Given the description of an element on the screen output the (x, y) to click on. 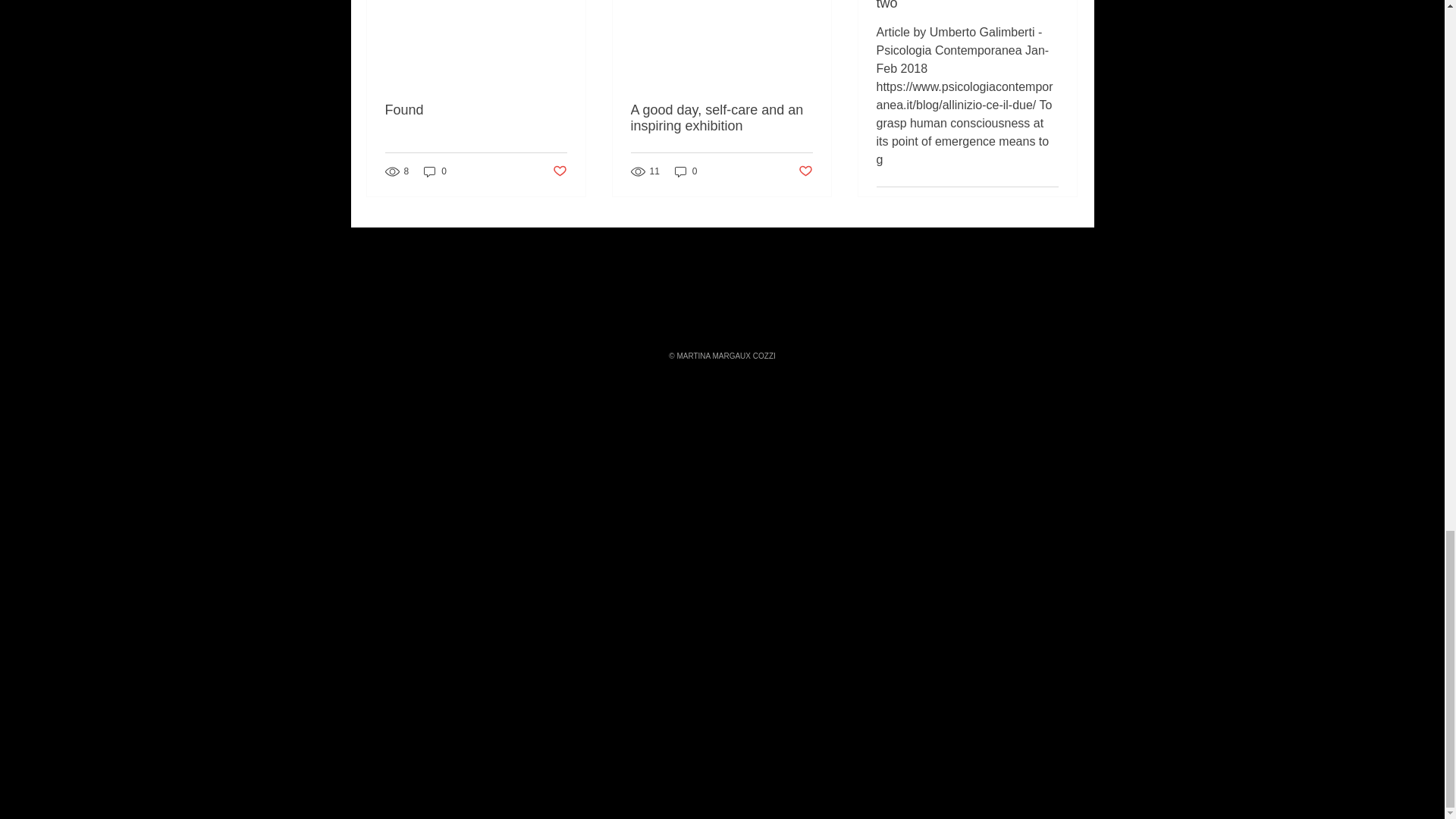
At the beginning, there was two (967, 5)
Post not marked as liked (804, 170)
Found (476, 109)
A good day, self-care and an inspiring exhibition (721, 118)
0 (435, 171)
Post not marked as liked (558, 170)
0 (685, 171)
